Given the description of an element on the screen output the (x, y) to click on. 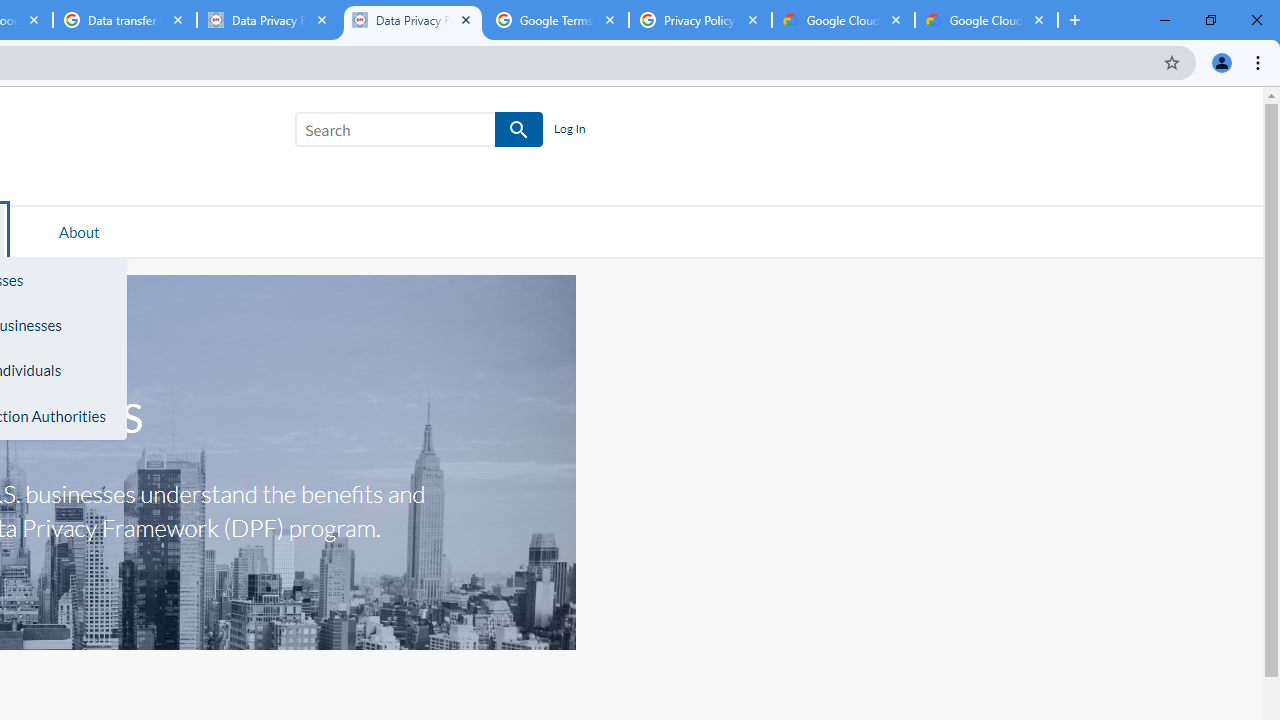
Google Cloud Privacy Notice (986, 20)
Data Privacy Framework (412, 20)
Data Privacy Framework (268, 20)
Google Cloud Privacy Notice (843, 20)
Search SEARCH (419, 133)
Search (395, 130)
About (79, 231)
Log In (569, 129)
